Given the description of an element on the screen output the (x, y) to click on. 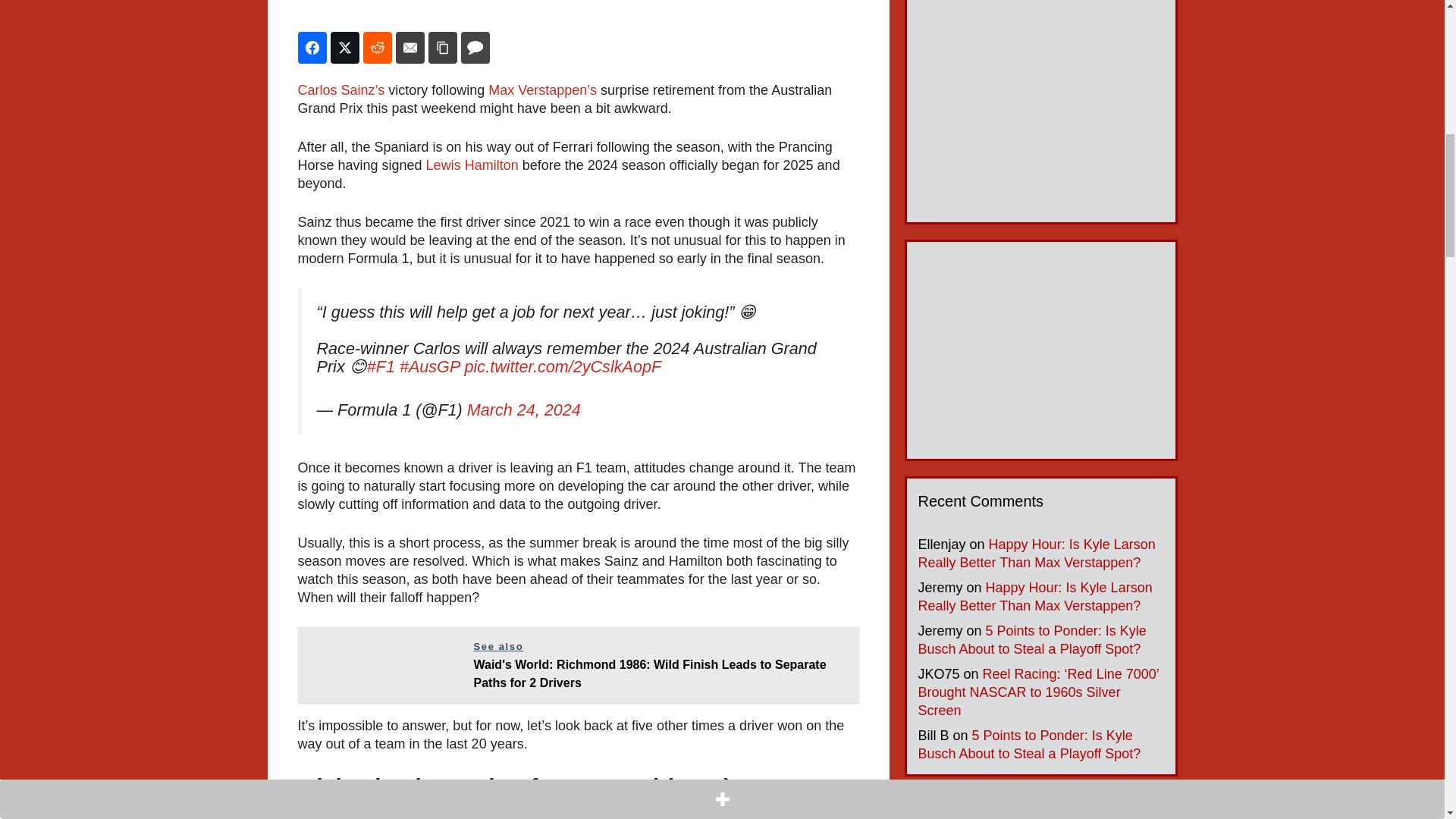
Lewis Hamilton (470, 165)
Share on Comments (475, 47)
Share on Twitter (344, 47)
Share on Copy Link (442, 47)
Share on Reddit (376, 47)
March 24, 2024 (523, 409)
Share on Facebook (311, 47)
Share on Email (410, 47)
